Given the description of an element on the screen output the (x, y) to click on. 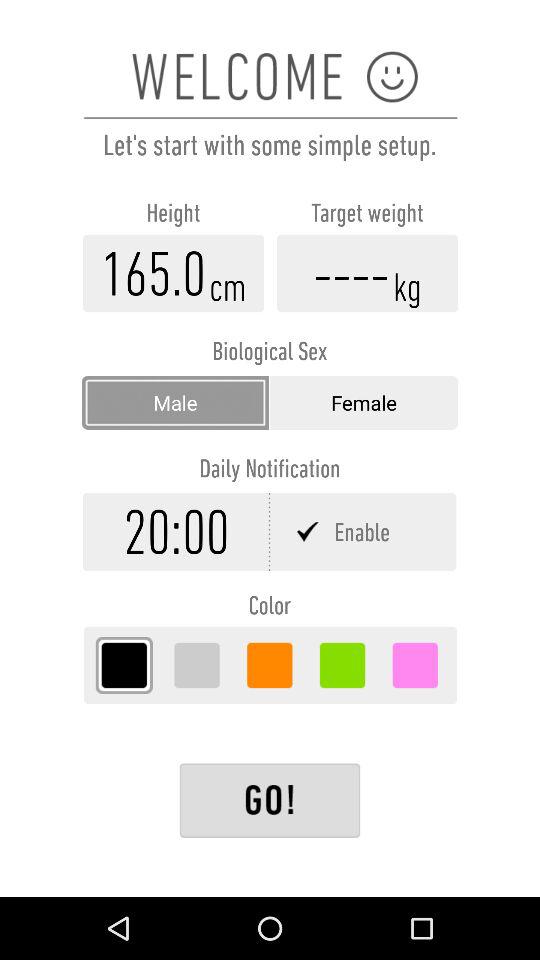
go (269, 800)
